Given the description of an element on the screen output the (x, y) to click on. 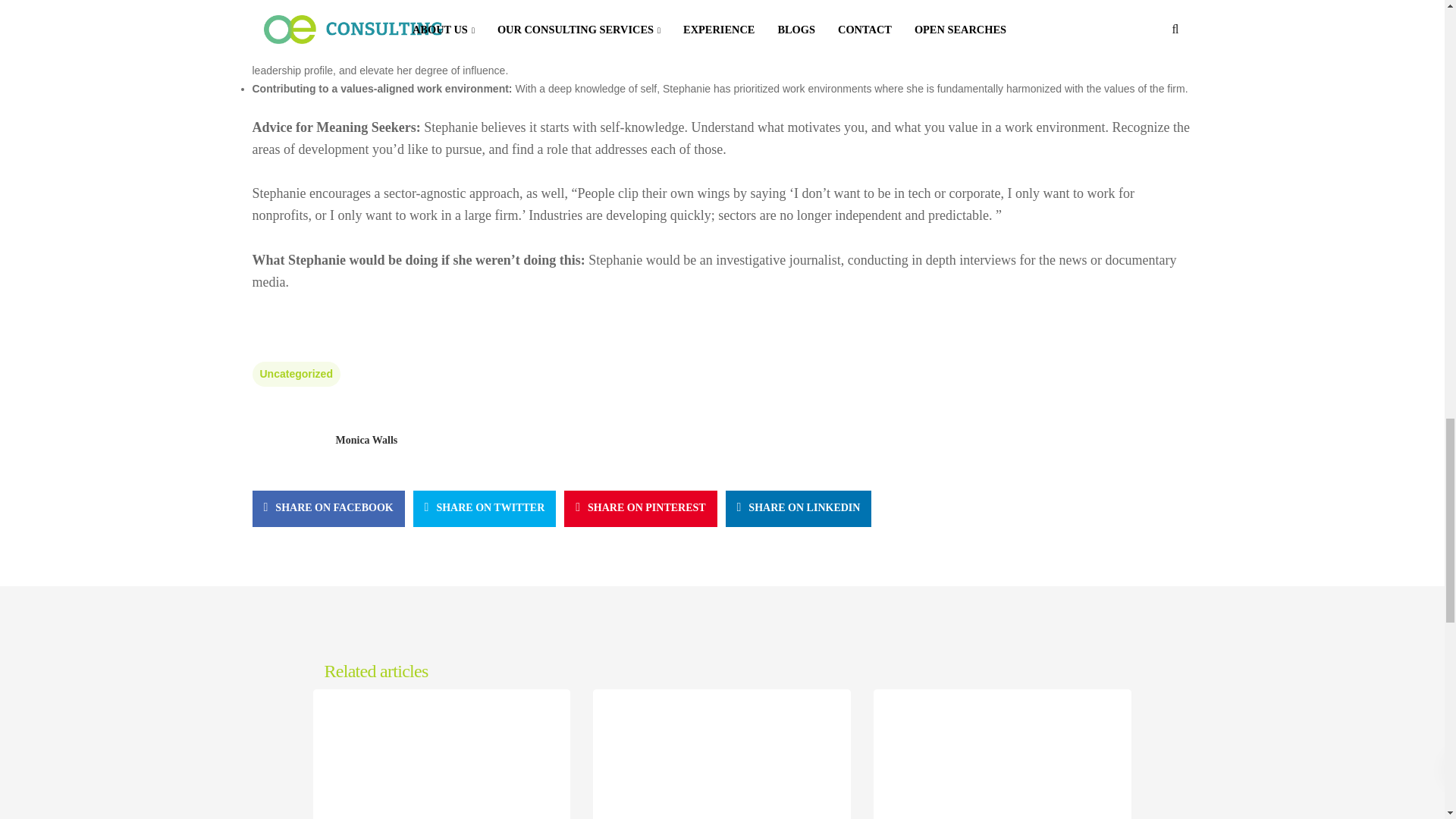
Call it What it is: Power (441, 814)
Uncategorized (295, 373)
SHARE ON FACEBOOK (327, 508)
SHARE ON LINKEDIN (798, 508)
SHARE ON PINTEREST (640, 508)
SHARE ON TWITTER (484, 508)
